Given the description of an element on the screen output the (x, y) to click on. 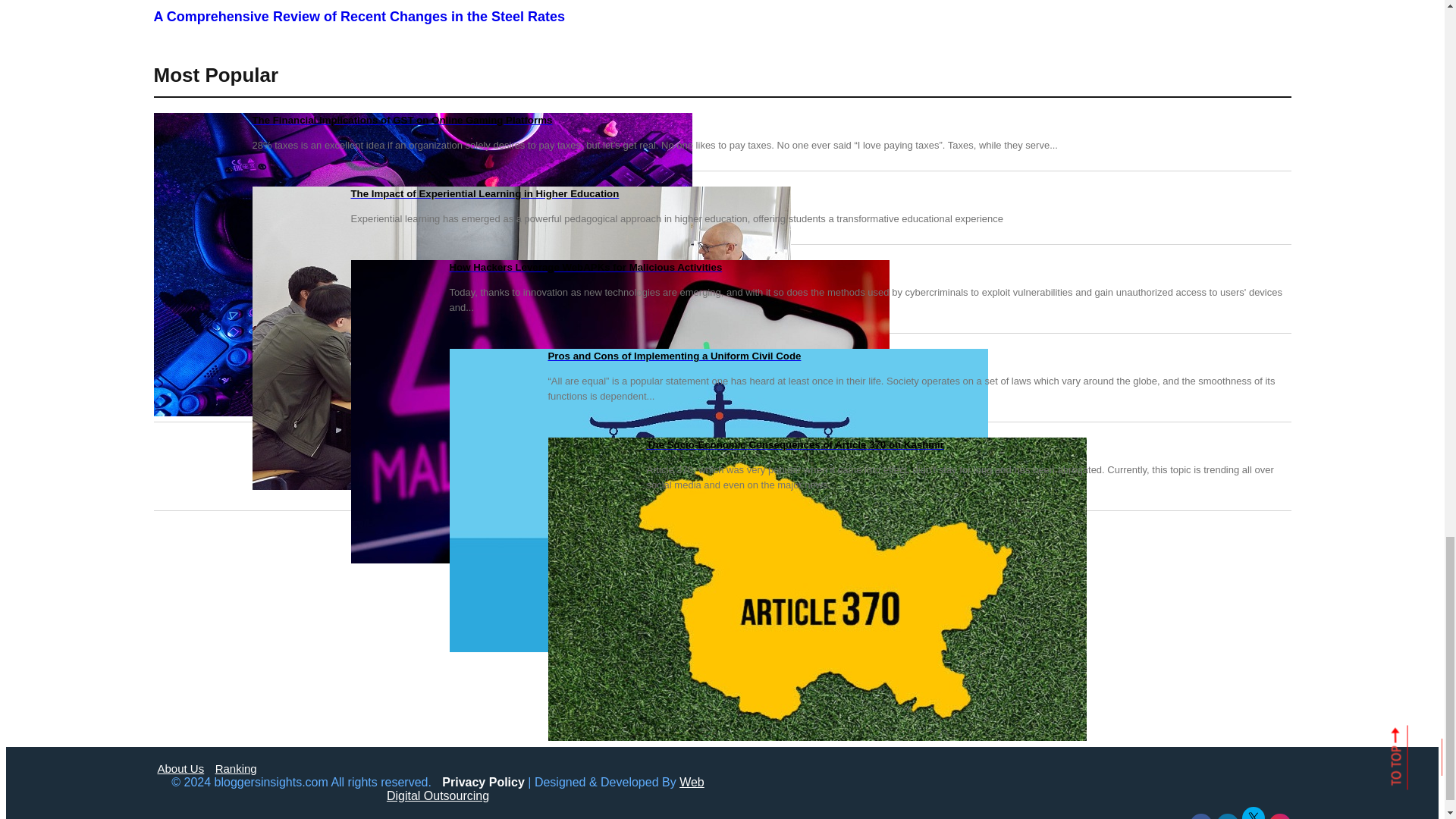
The Financial Implications of GST on Online Gaming Platforms (721, 120)
A Comprehensive Review of Recent Changes in the Steel Rates (721, 17)
Web Digital Outsourcing (545, 788)
The Socio-Economic Consequences of Article 370 on Kashmir (721, 444)
About Us (181, 768)
Privacy Policy (483, 781)
The Impact of Experiential Learning in Higher Education (721, 193)
Pros and Cons of Implementing a Uniform Civil Code (721, 355)
How Hackers Leverage WebAPKs for Malicious Activities (721, 267)
Ranking (236, 768)
